Given the description of an element on the screen output the (x, y) to click on. 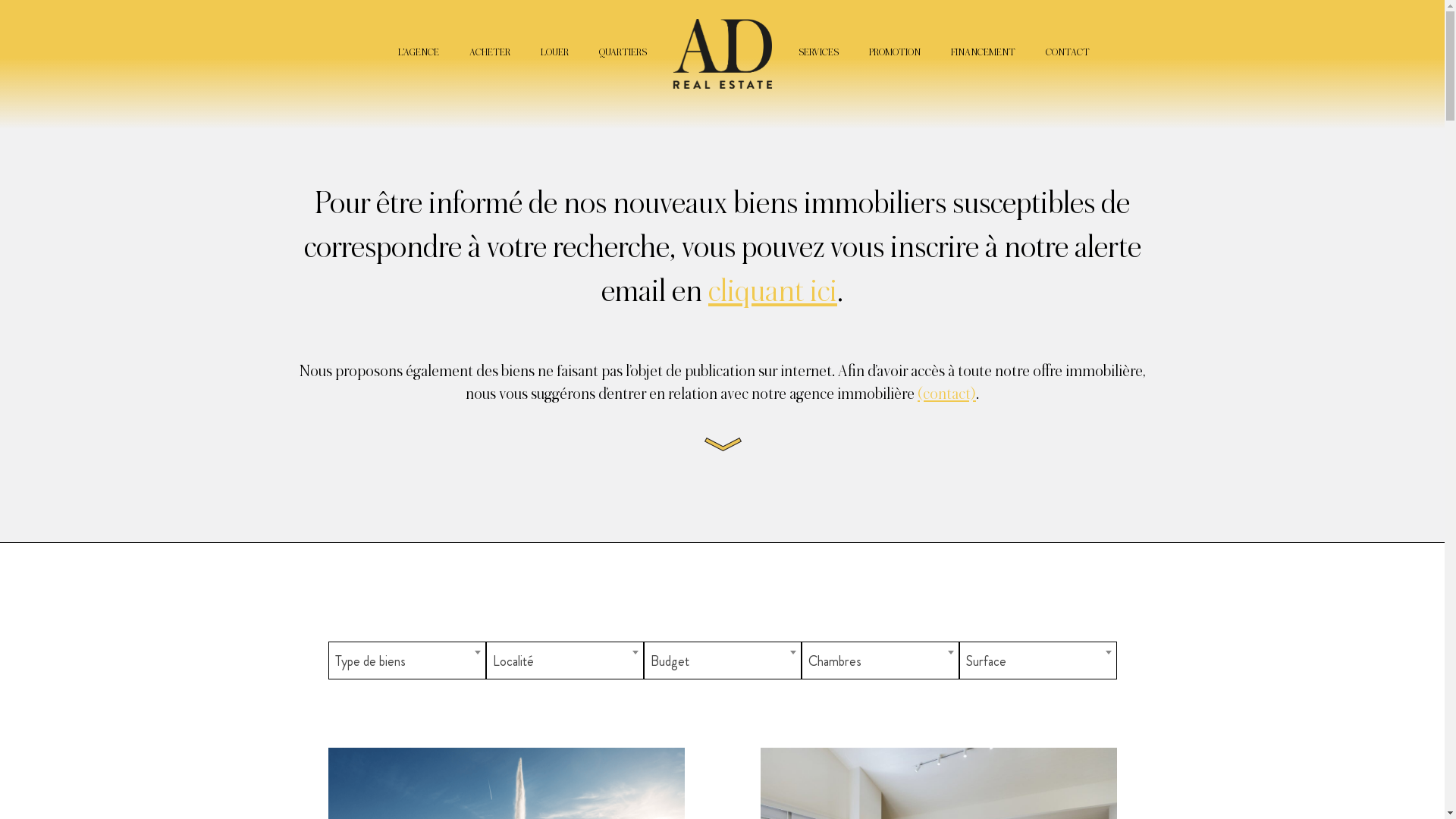
LOUER Element type: text (553, 52)
FINANCEMENT Element type: text (982, 52)
SERVICES Element type: text (817, 52)
ACHETER Element type: text (488, 52)
PROMOTION Element type: text (894, 52)
CONTACT Element type: text (1066, 52)
QUARTIERS Element type: text (622, 52)
